Given the description of an element on the screen output the (x, y) to click on. 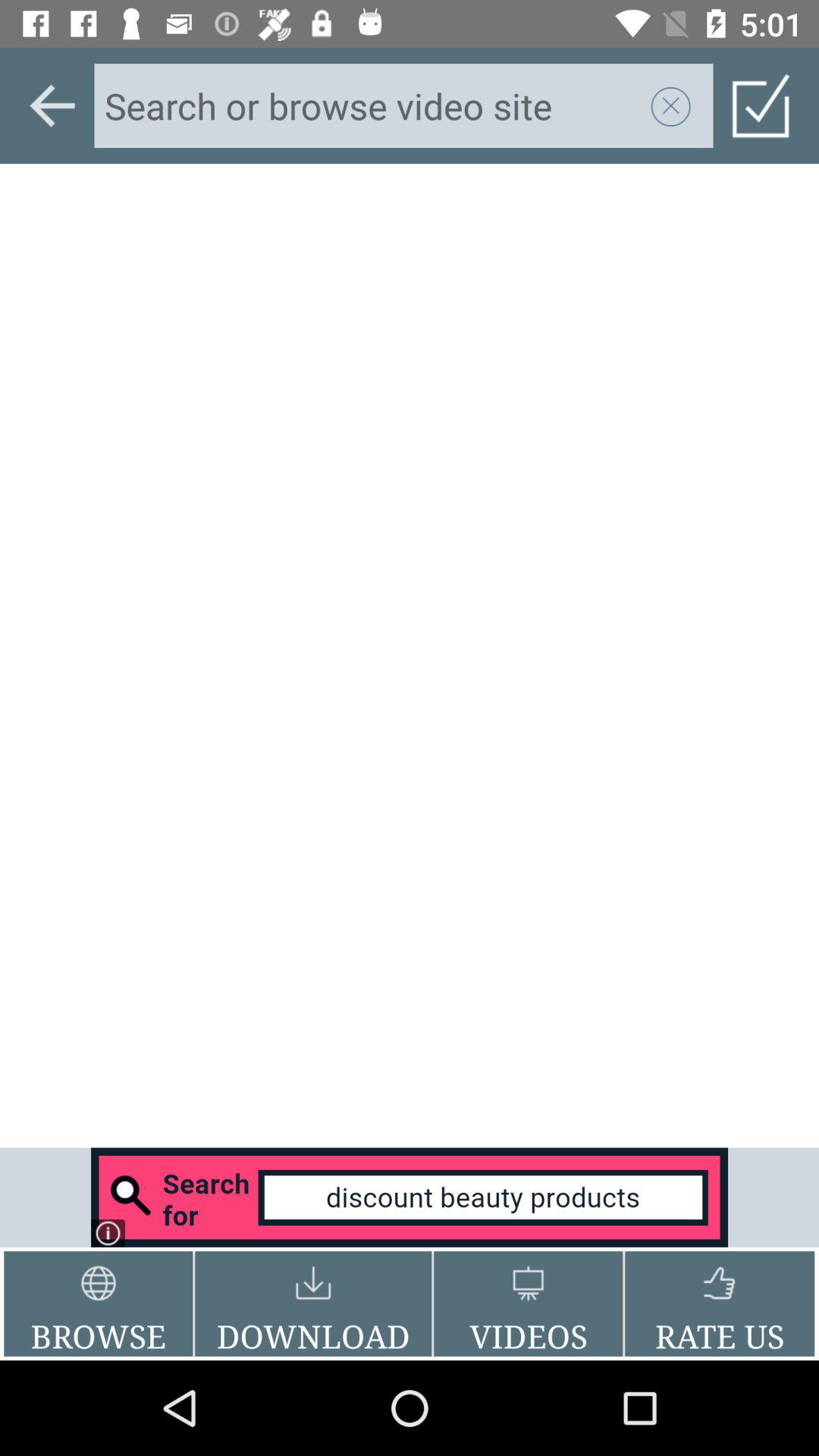
click browse button (97, 1303)
